Given the description of an element on the screen output the (x, y) to click on. 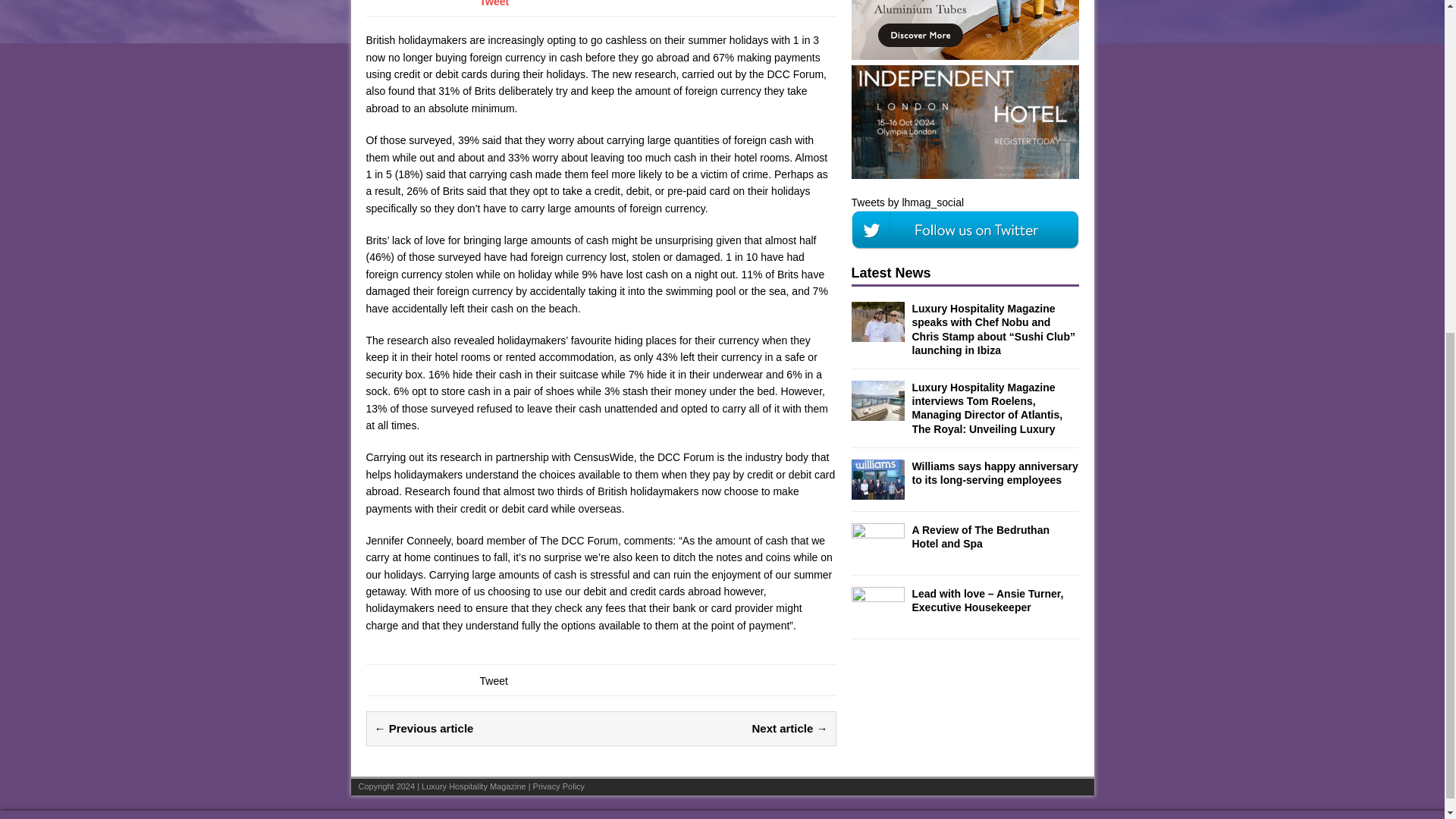
Privacy Policy (558, 786)
Tweet (493, 3)
Tweet (492, 680)
A Review of The Bedruthan Hotel and Spa (980, 536)
